Given the description of an element on the screen output the (x, y) to click on. 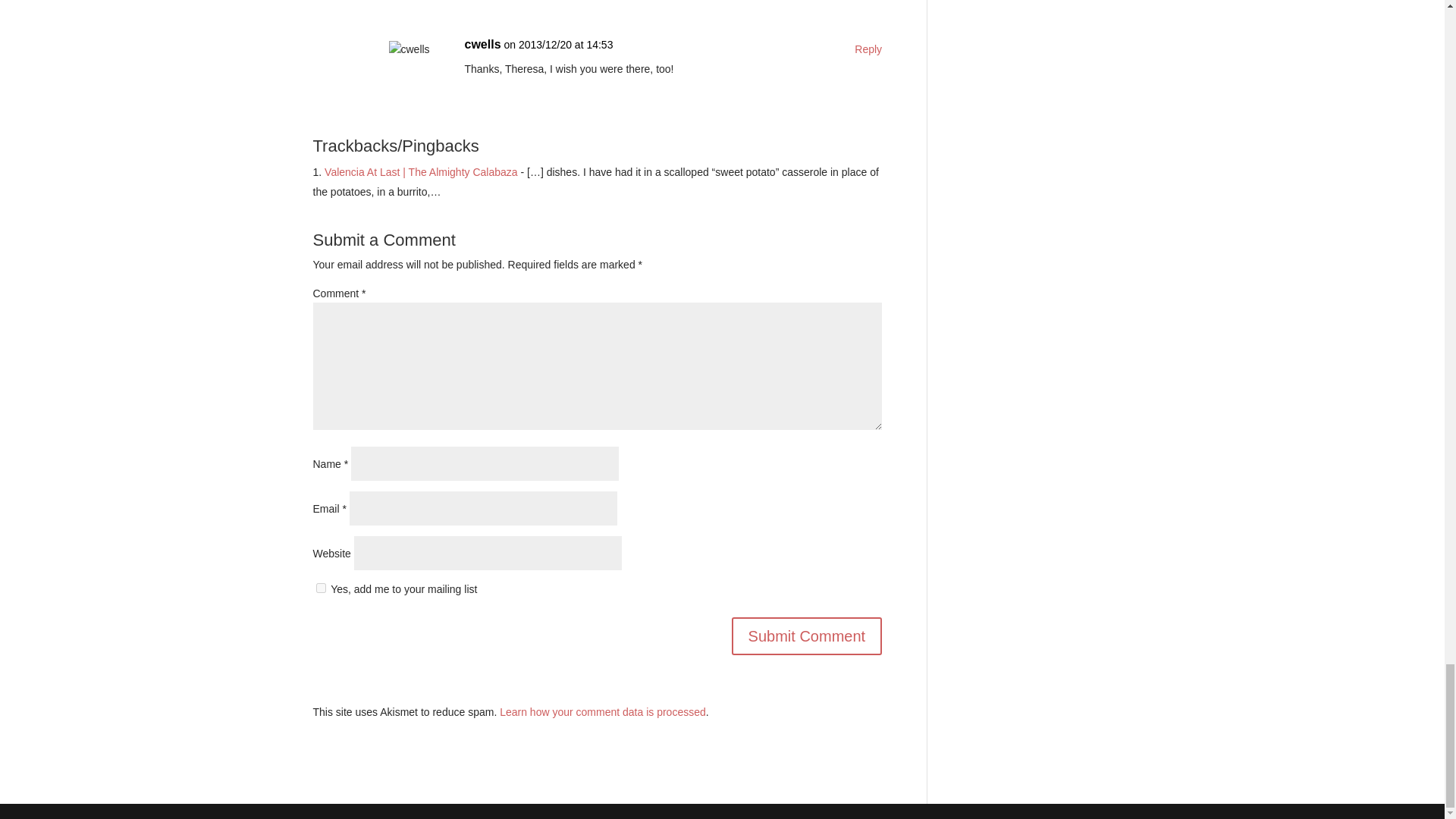
Submit Comment (807, 636)
1 (319, 587)
Submit Comment (807, 636)
Learn how your comment data is processed (602, 711)
Reply (868, 49)
